Given the description of an element on the screen output the (x, y) to click on. 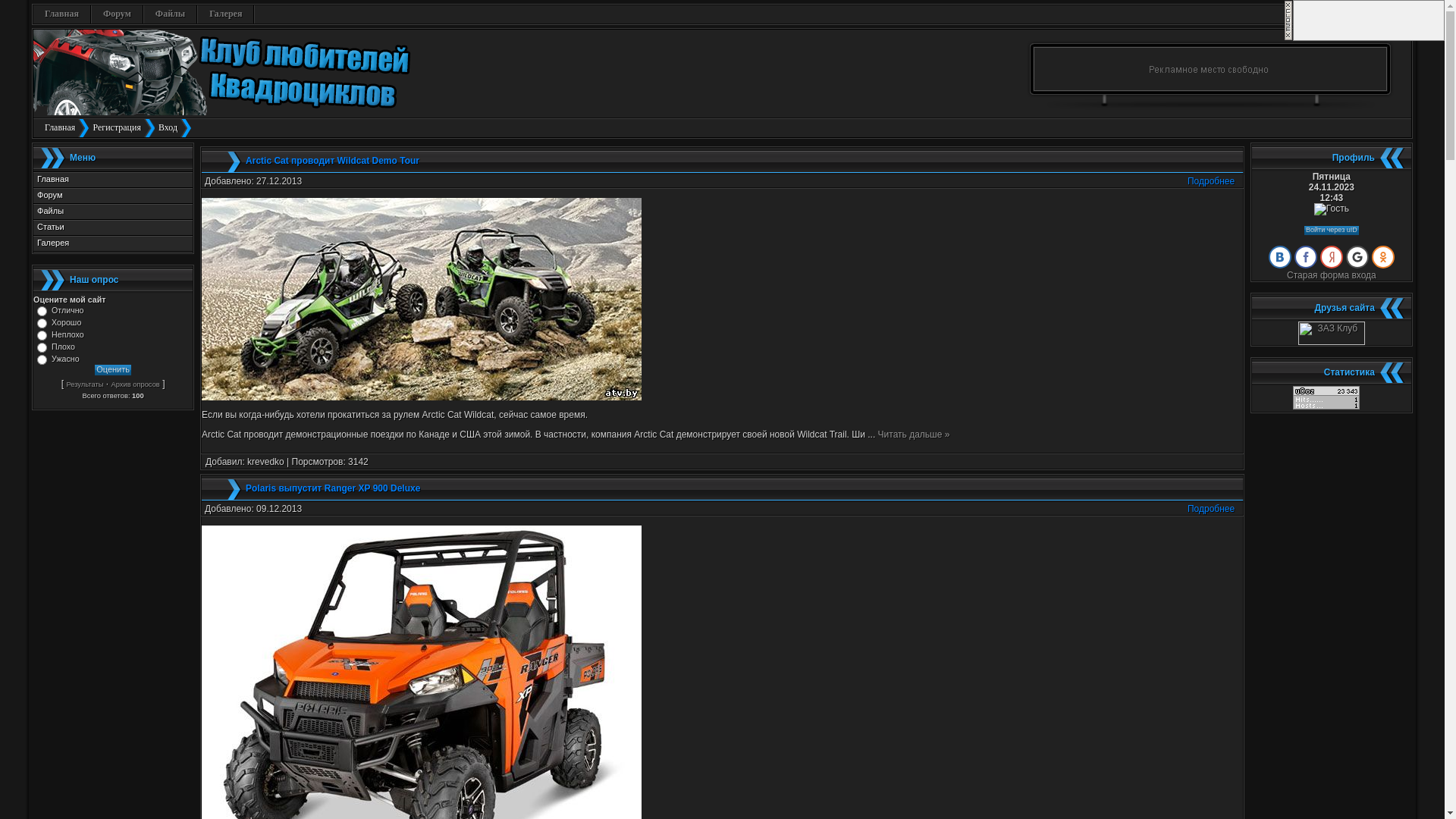
uCoz Counter Element type: hover (1325, 406)
